Given the description of an element on the screen output the (x, y) to click on. 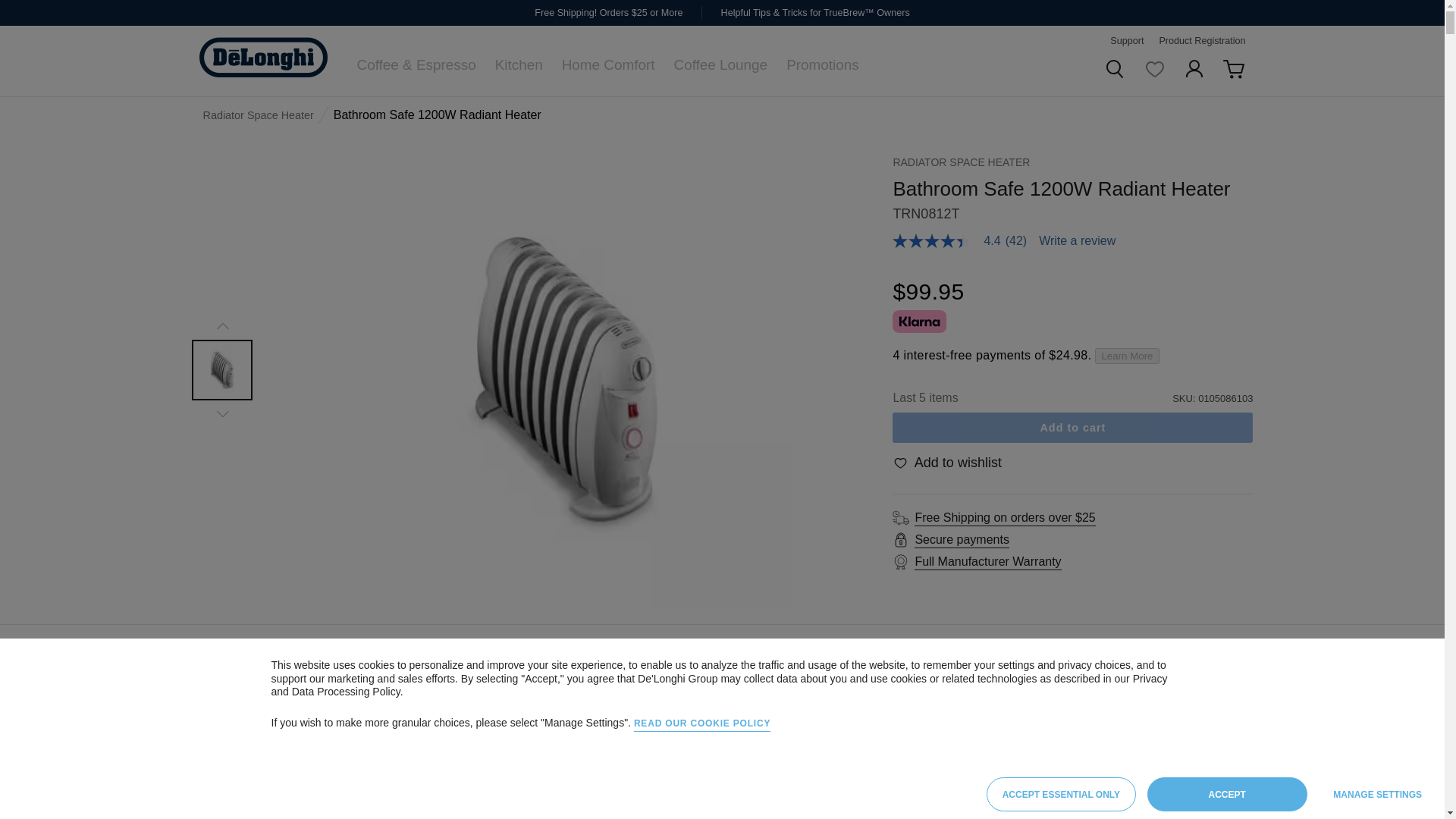
MANAGE SETTINGS (1377, 794)
Kitchen (519, 64)
ACCEPT (1227, 794)
Support (1125, 40)
Coffee Lounge (721, 64)
ACCEPT ESSENTIAL ONLY (1061, 794)
Product Registration (1201, 40)
READ OUR COOKIE POLICY (701, 724)
Promotions (822, 64)
Home Comfort (608, 64)
